Given the description of an element on the screen output the (x, y) to click on. 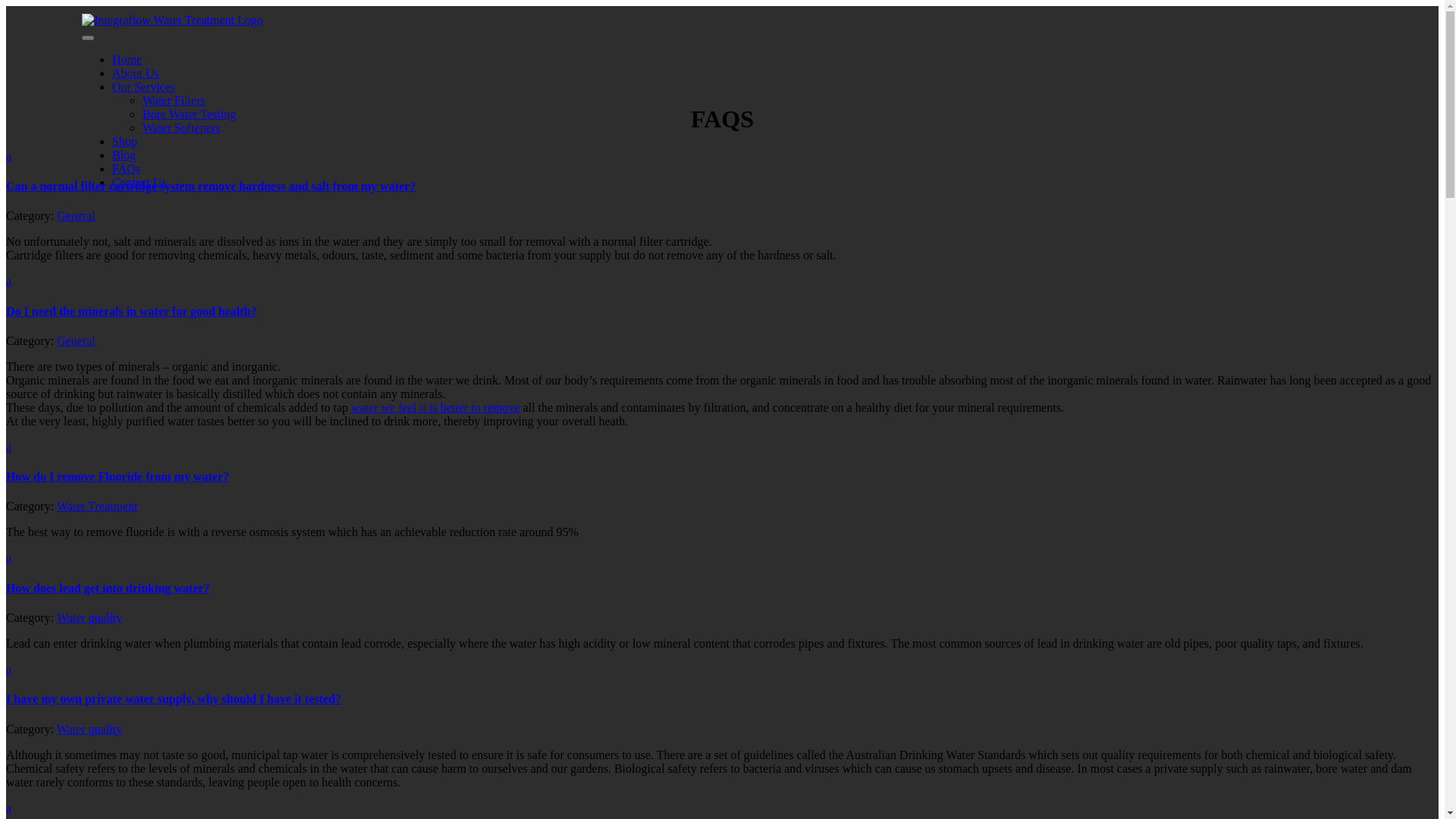
Our Services (143, 86)
Home (126, 59)
Bore Water Testing (188, 113)
Water Softeners (180, 127)
Blog (123, 154)
General (76, 215)
Water Treatment (97, 505)
water we feel it is better to remove (434, 407)
FAQs (125, 168)
About Us (135, 72)
Water quality (89, 728)
Water quality (89, 617)
Contact Us (139, 182)
Water Filters (173, 100)
General (76, 340)
